Given the description of an element on the screen output the (x, y) to click on. 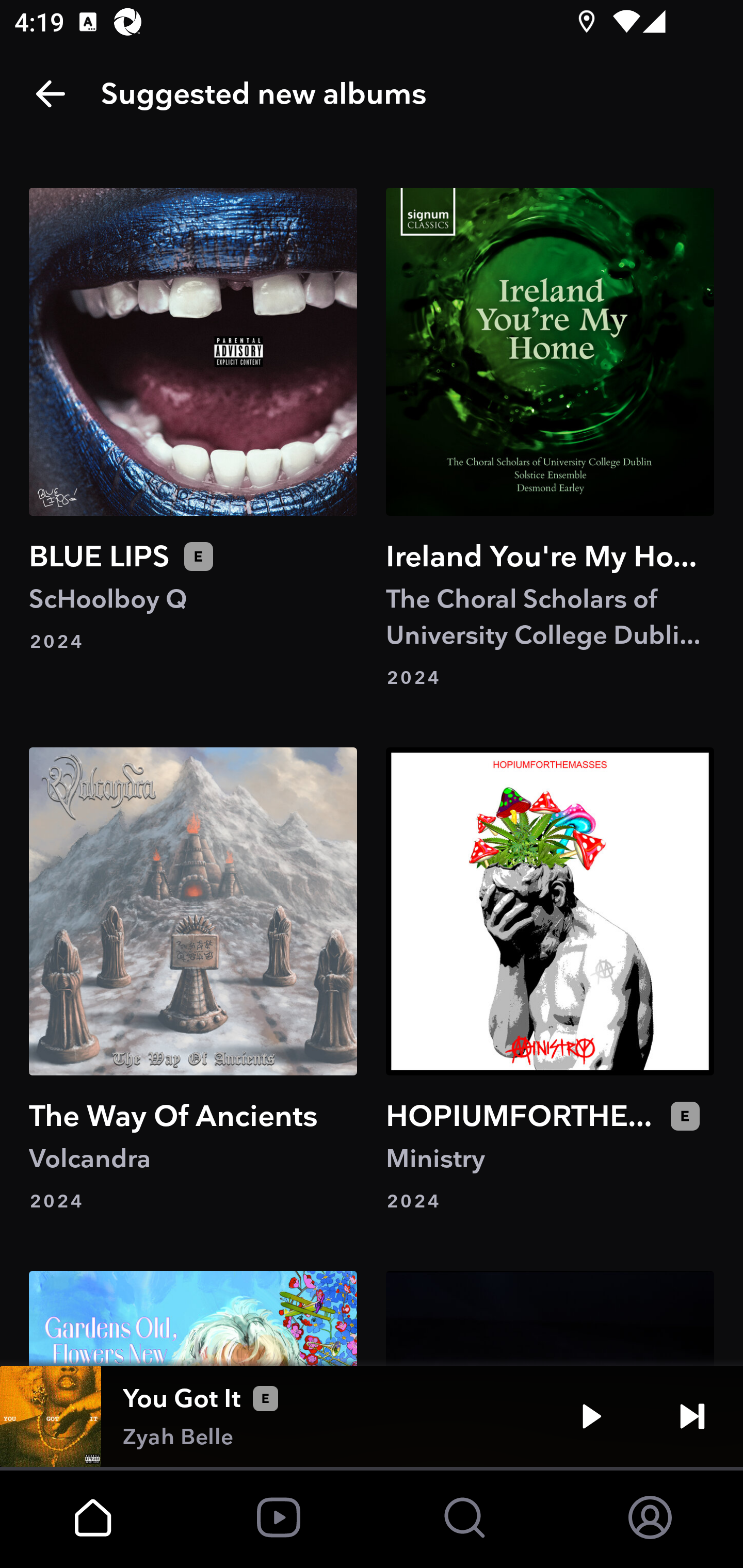
BLUE LIPS ScHoolboy Q 2024 (192, 438)
The Way Of Ancients Volcandra 2024 (192, 980)
HOPIUMFORTHEMASSES Ministry 2024 (549, 980)
You Got It    Zyah Belle Play (371, 1416)
Play (590, 1416)
